Given the description of an element on the screen output the (x, y) to click on. 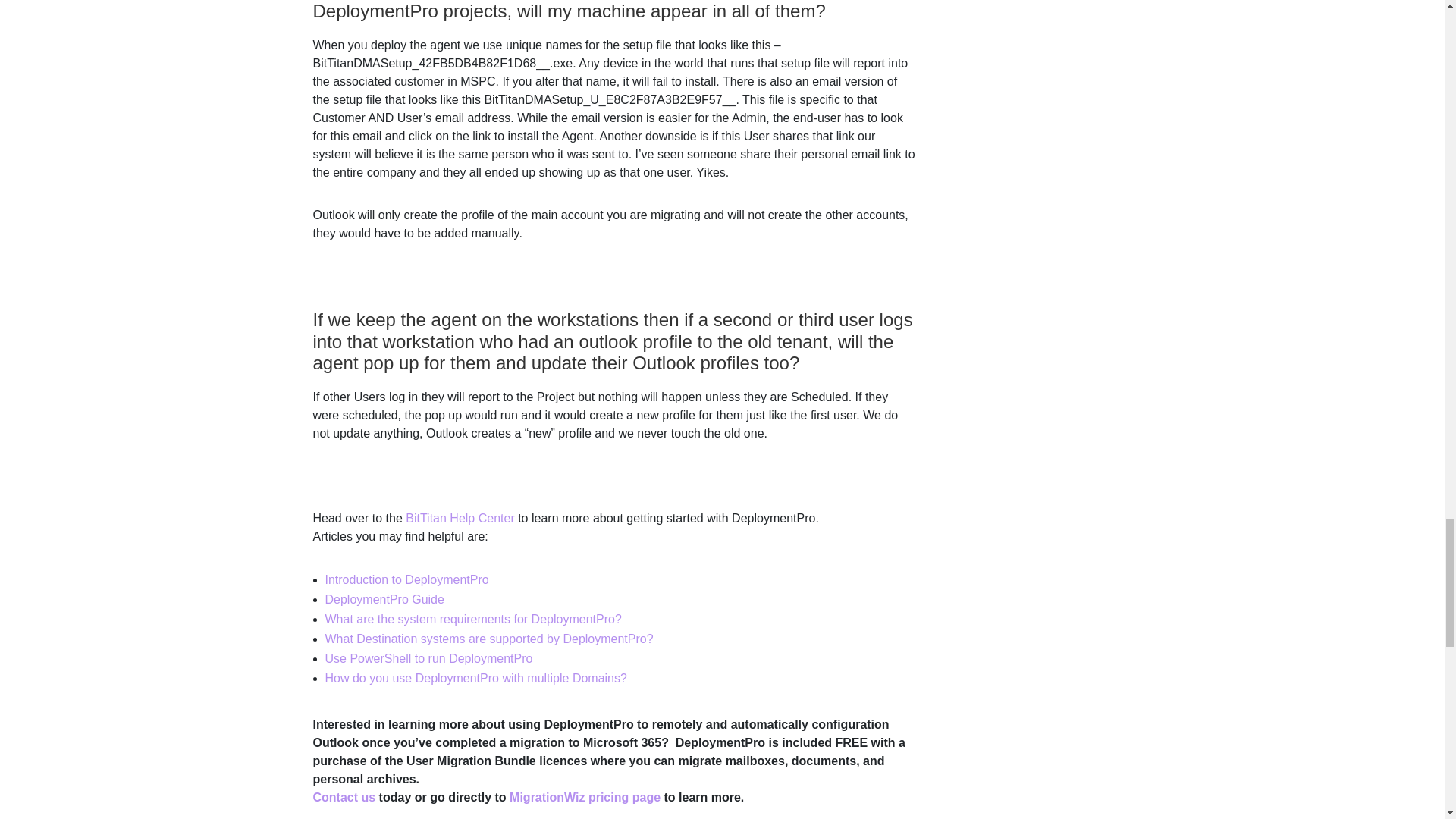
Pricing (585, 797)
Contact (344, 797)
